Given the description of an element on the screen output the (x, y) to click on. 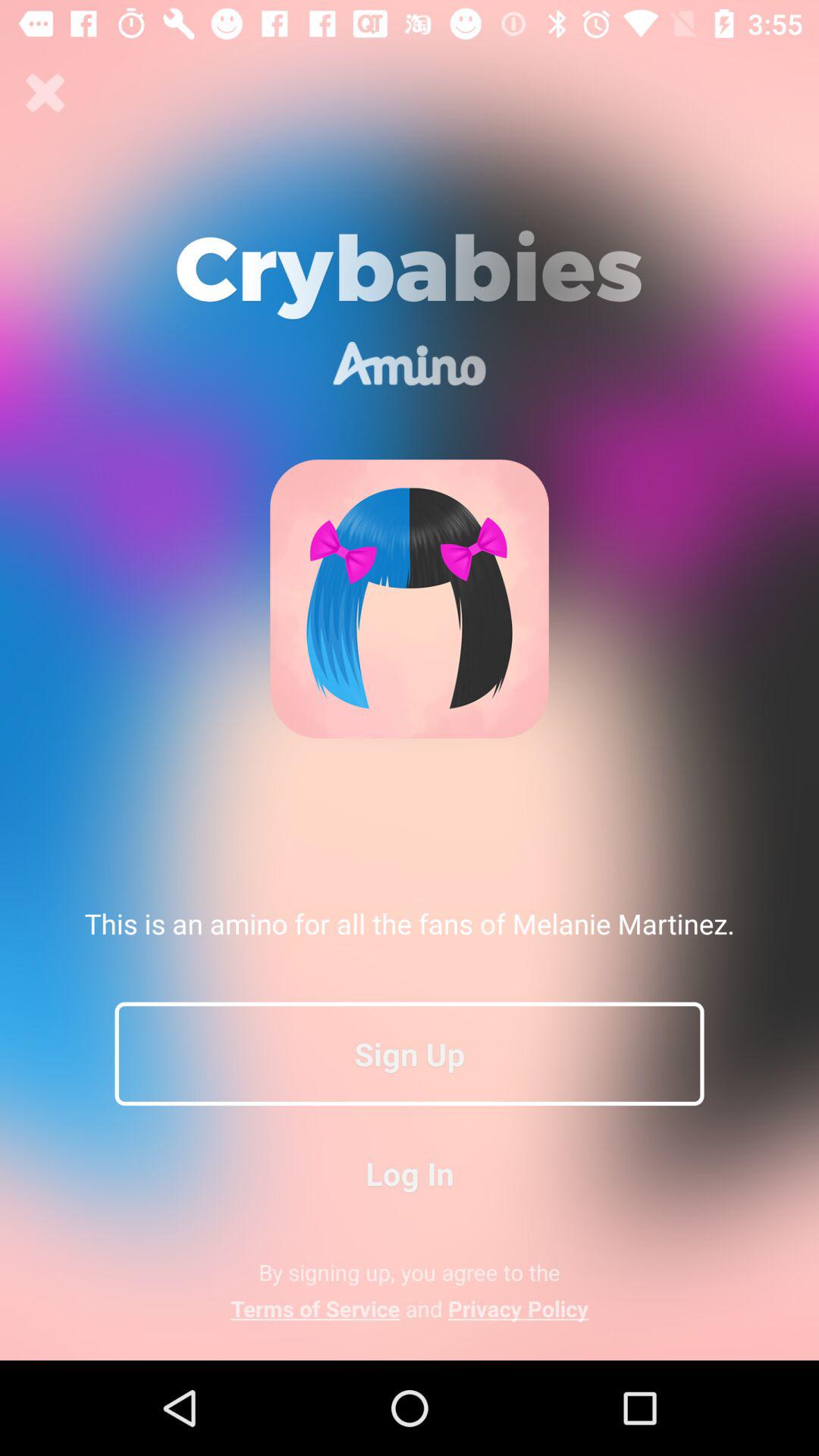
select button below sign up (409, 1173)
